Given the description of an element on the screen output the (x, y) to click on. 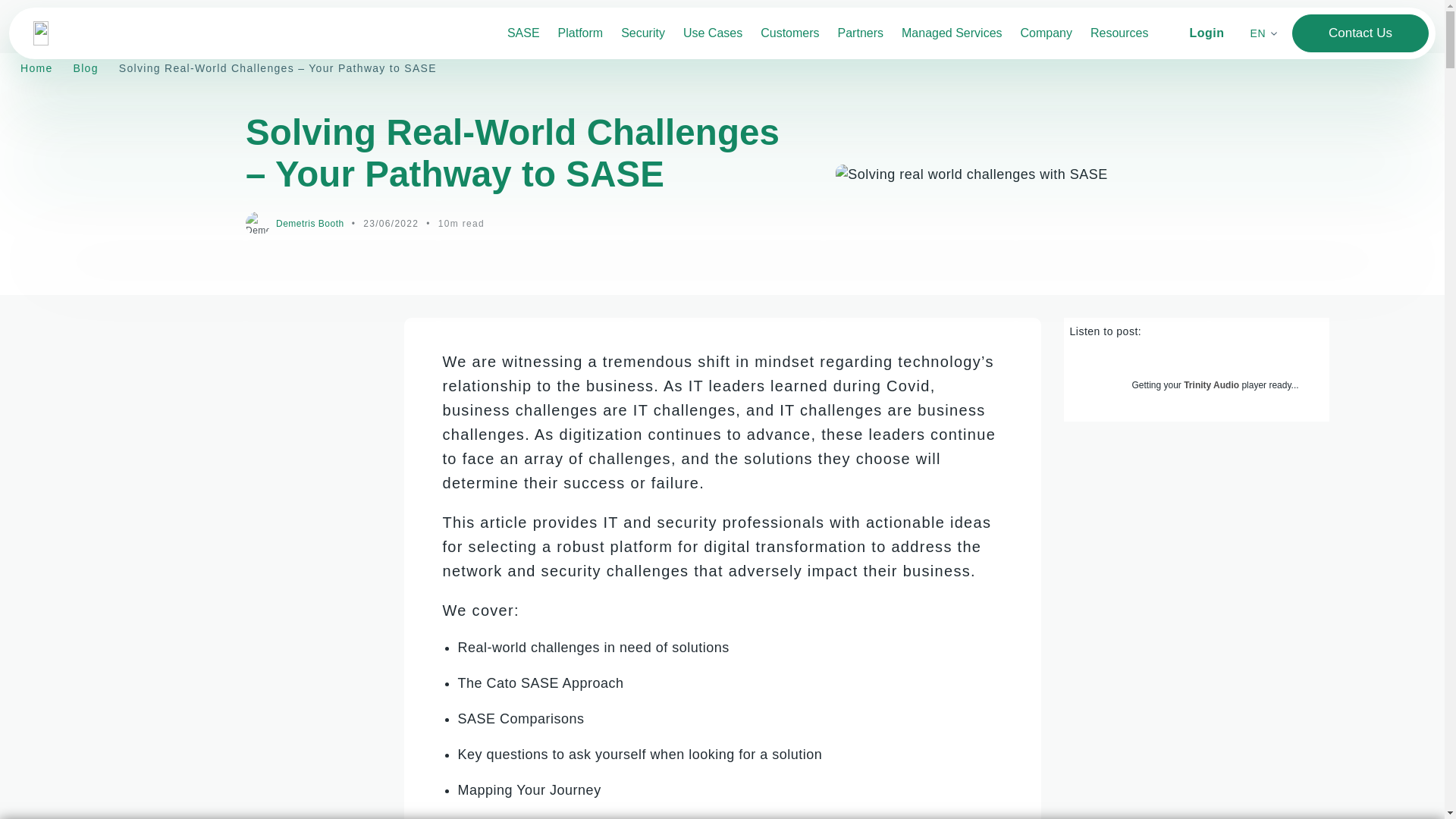
SASE (523, 33)
Platform (580, 33)
Demetris Booth (309, 223)
